Given the description of an element on the screen output the (x, y) to click on. 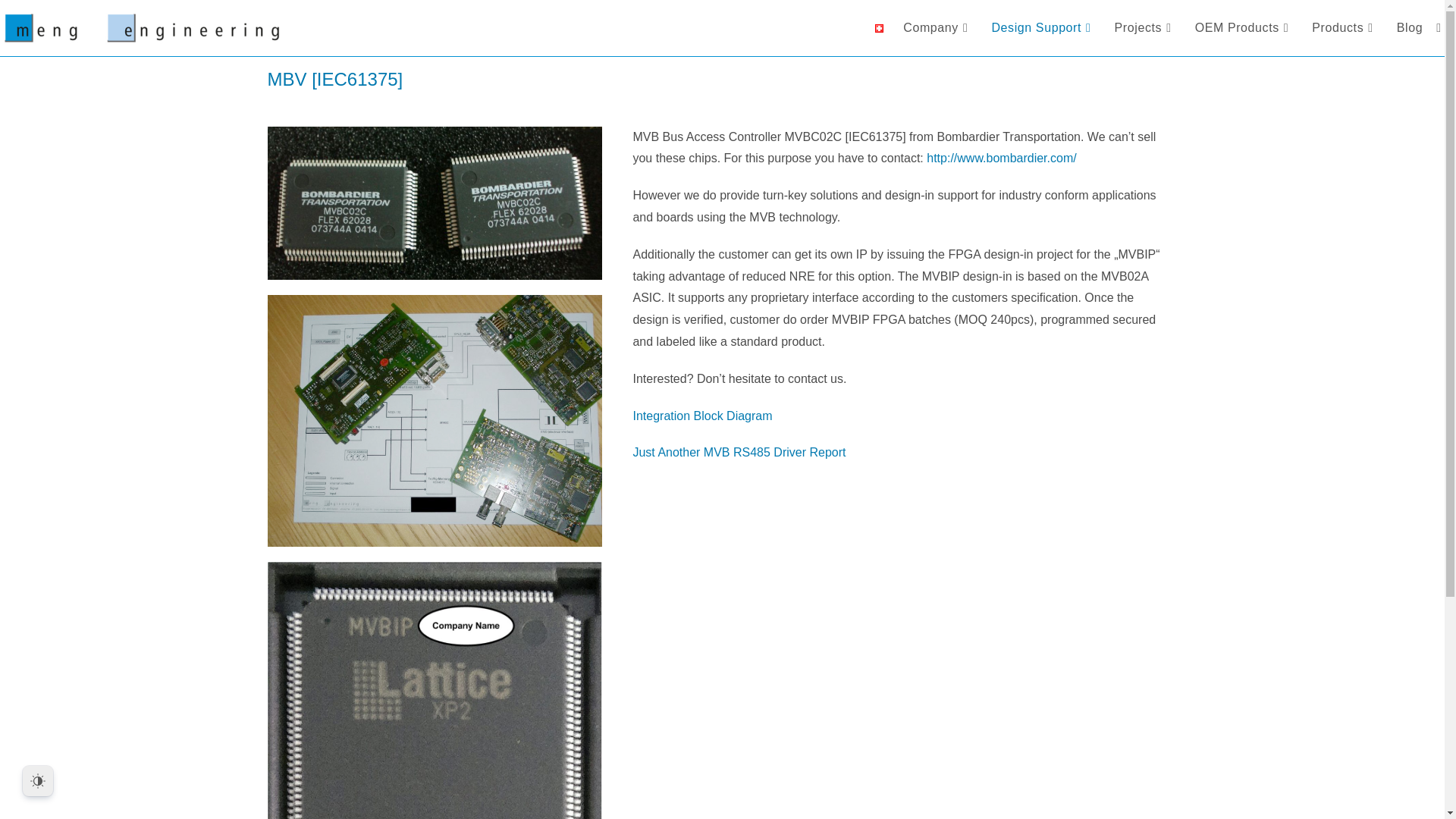
OEM Products (1244, 28)
Projects (1145, 28)
Products (1343, 28)
Blog (1409, 28)
Design Support (1042, 28)
Company (937, 28)
